Given the description of an element on the screen output the (x, y) to click on. 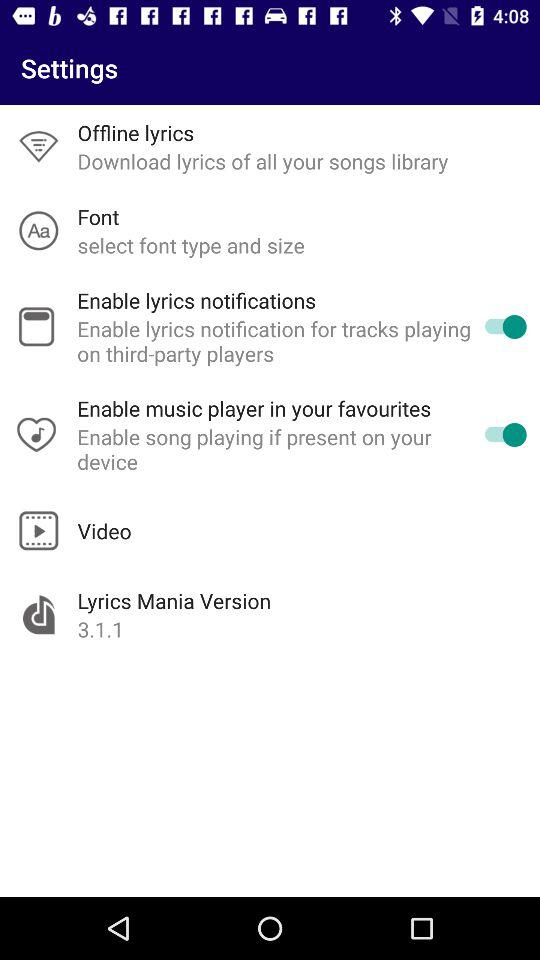
press the app above lyrics mania version (104, 530)
